Given the description of an element on the screen output the (x, y) to click on. 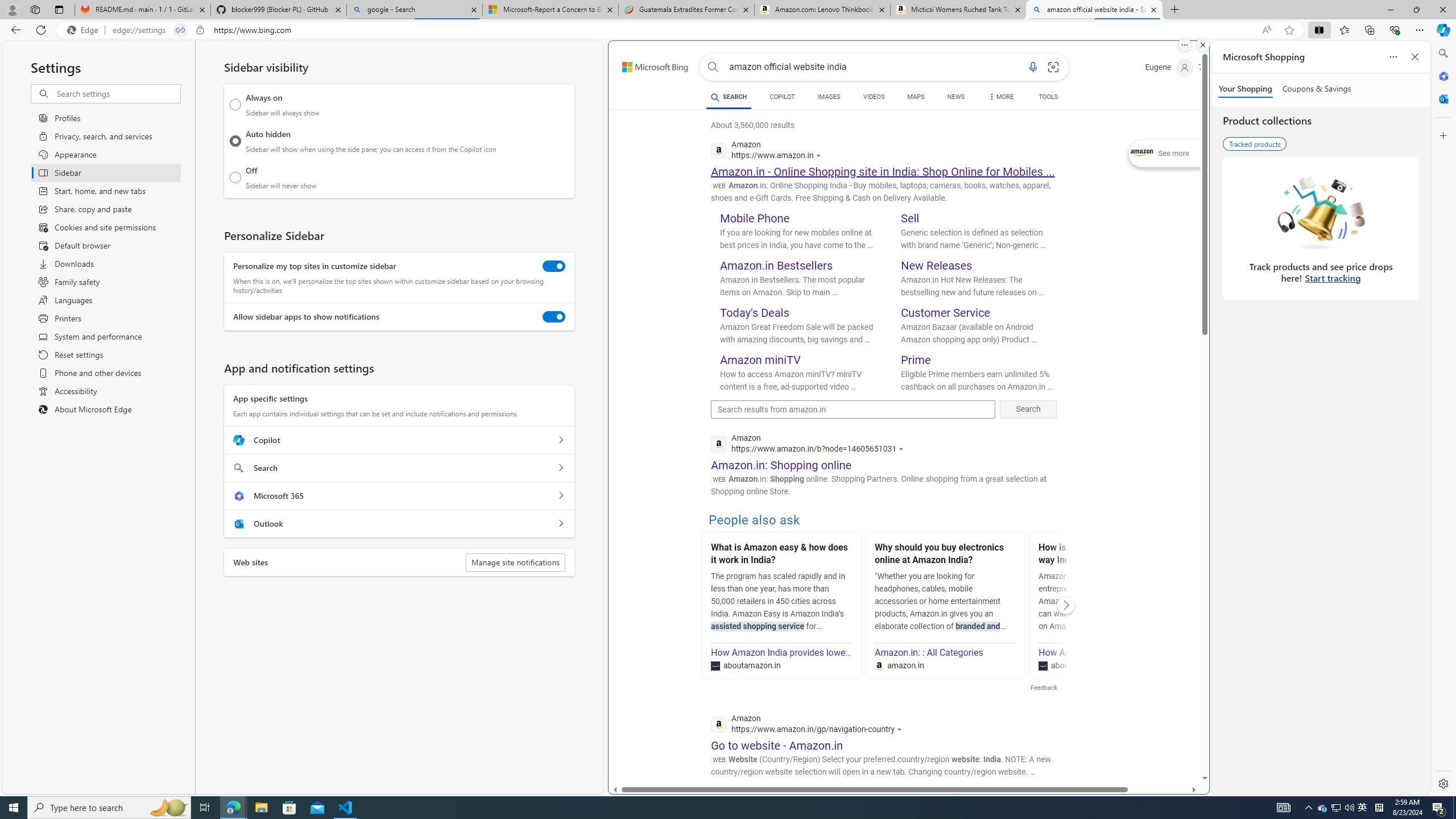
Manage site notifications (514, 562)
Mobile Phone (755, 218)
What is Amazon easy & how does it work in India? (780, 555)
Go to website - Amazon.in (776, 745)
Amazon.in: : All Categories (928, 652)
SEARCH (728, 96)
Dropdown Menu (1000, 96)
Back to Bing search (648, 64)
